Given the description of an element on the screen output the (x, y) to click on. 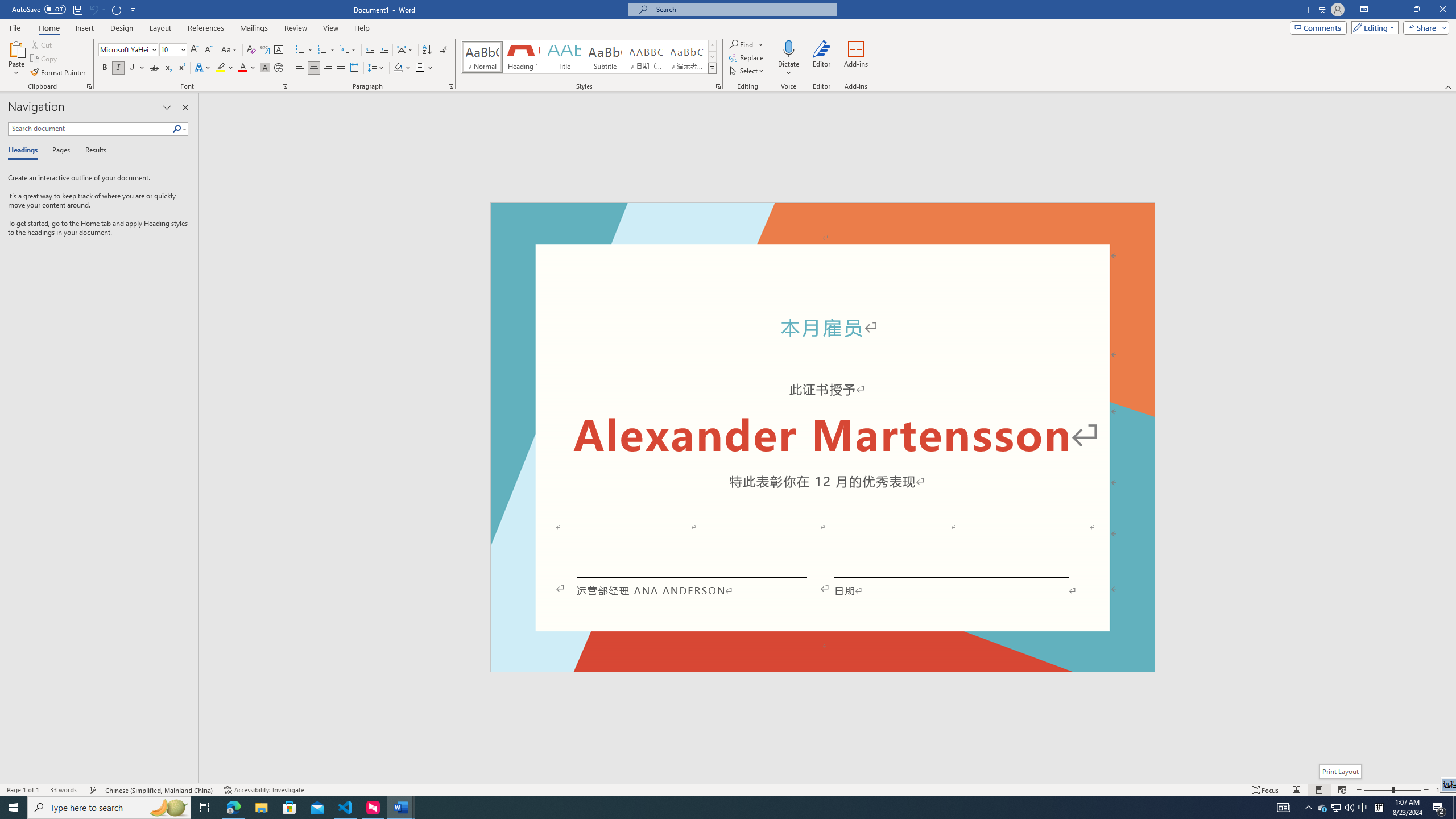
Can't Undo (92, 9)
Page Number Page 1 of 1 (22, 790)
